Given the description of an element on the screen output the (x, y) to click on. 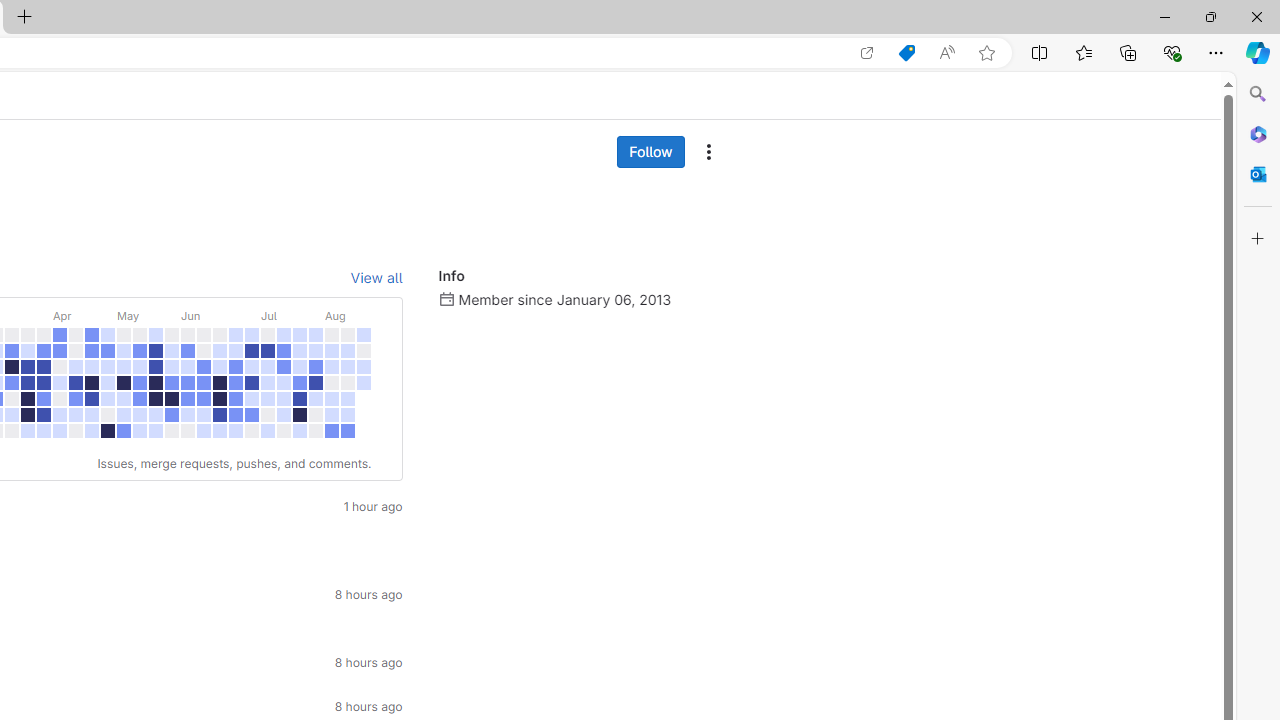
Class: s16 gl-fill-icon-subtle gl-mt-1 flex-shrink-0 (445, 298)
